Given the description of an element on the screen output the (x, y) to click on. 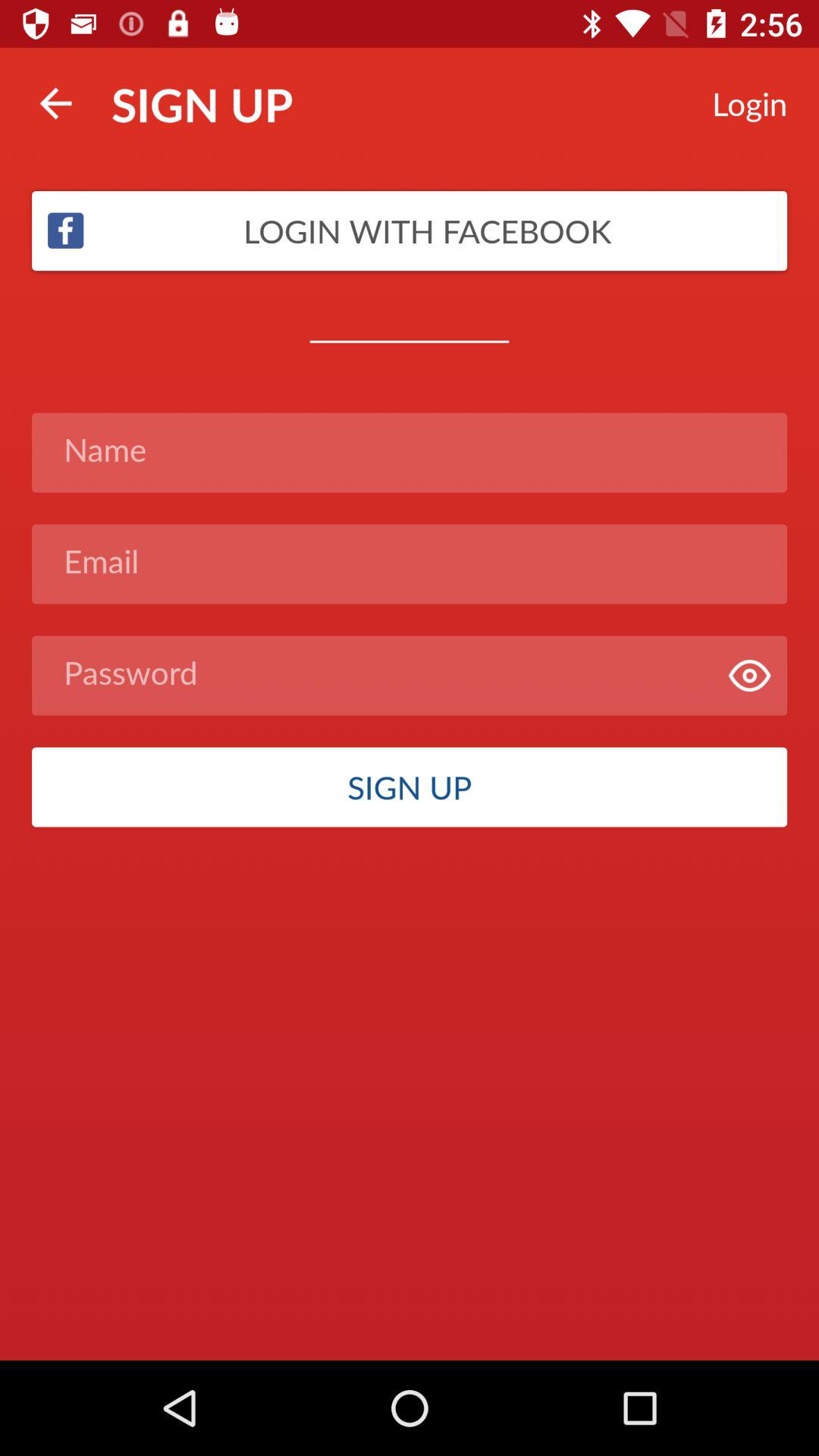
click the icon to the left of sign up item (55, 103)
